Given the description of an element on the screen output the (x, y) to click on. 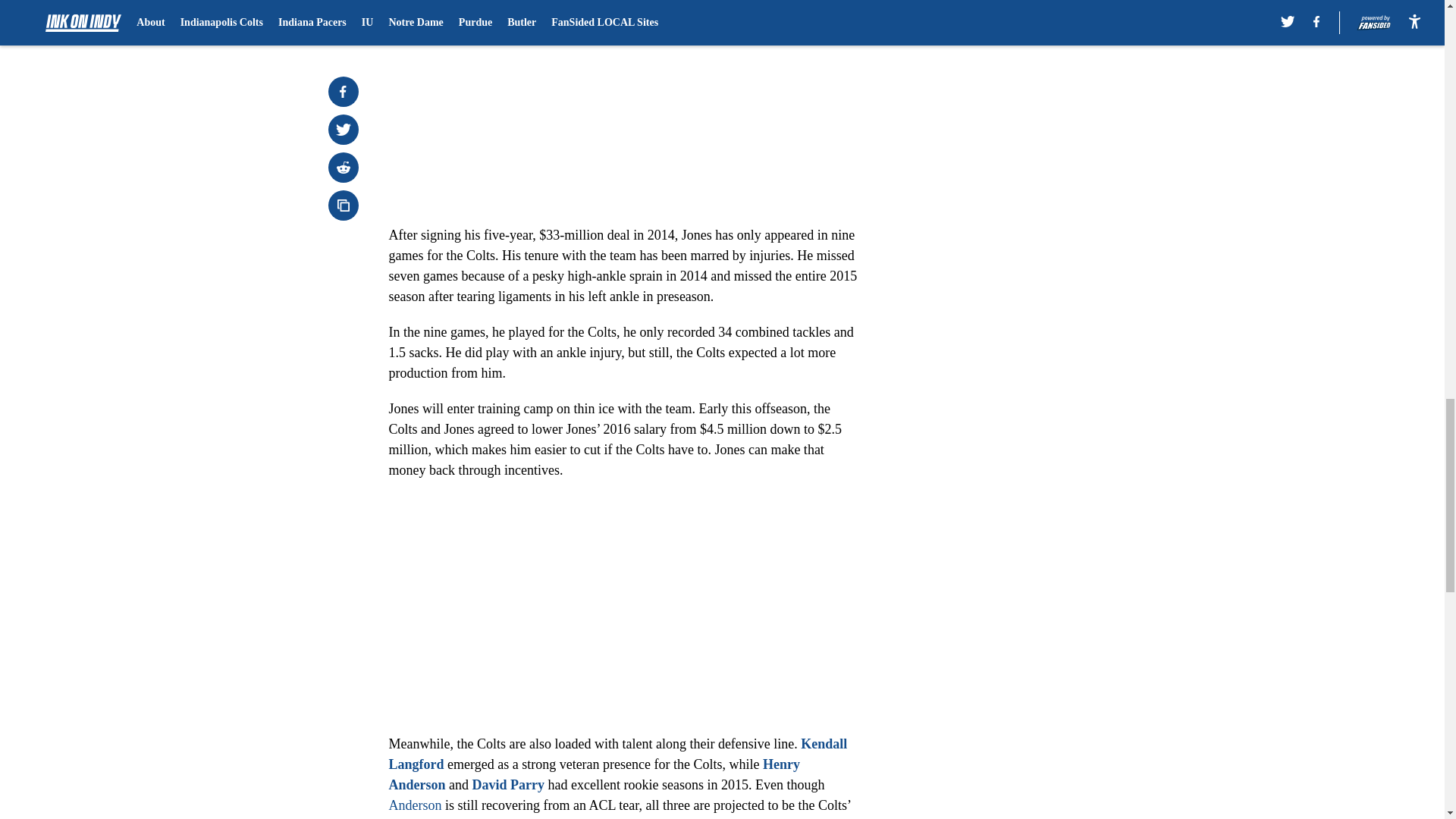
Henry Anderson (593, 774)
David Parry (507, 784)
Kendall Langford (617, 754)
Anderson (414, 805)
